Given the description of an element on the screen output the (x, y) to click on. 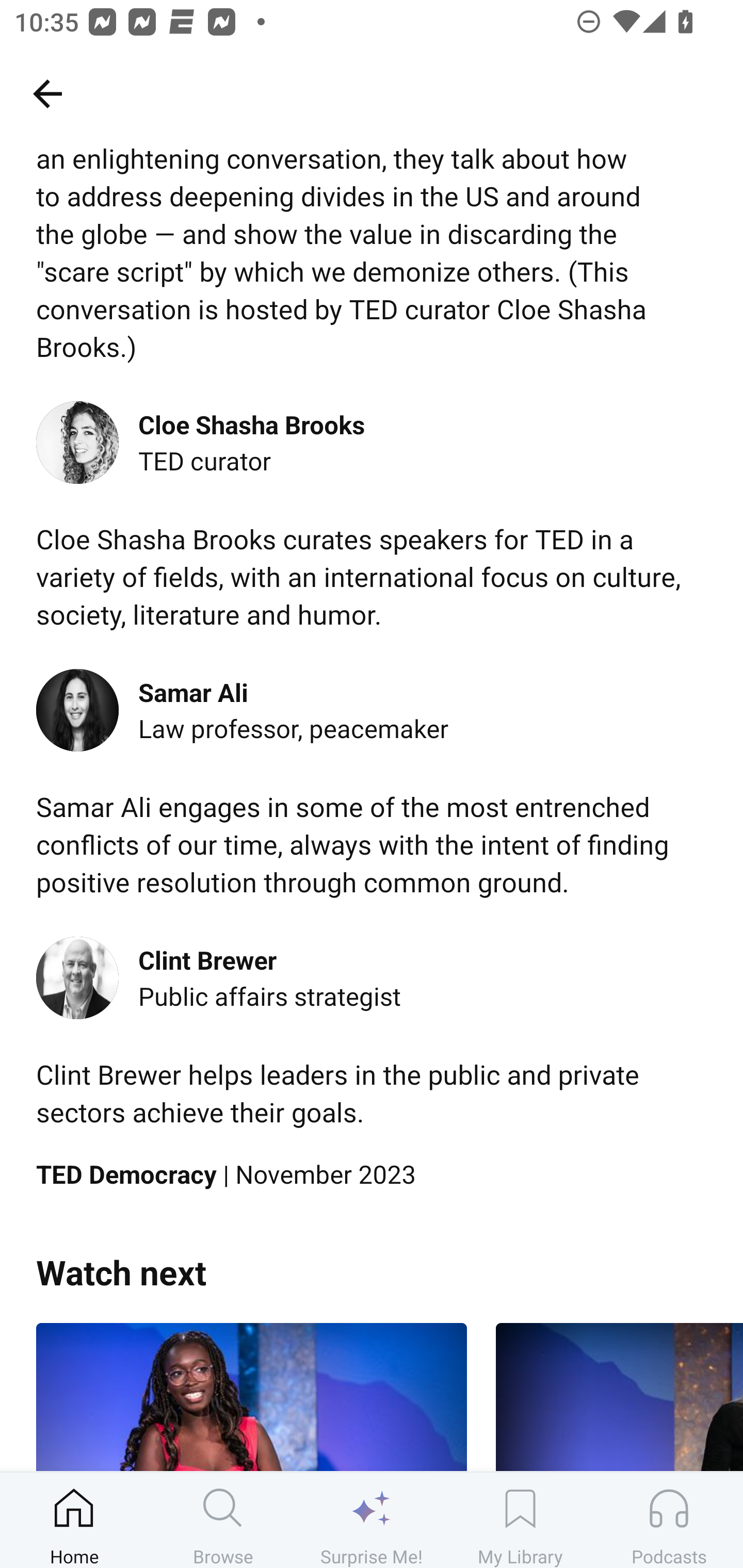
Home, back (47, 92)
Home (74, 1520)
Browse (222, 1520)
Surprise Me! (371, 1520)
My Library (519, 1520)
Podcasts (668, 1520)
